Given the description of an element on the screen output the (x, y) to click on. 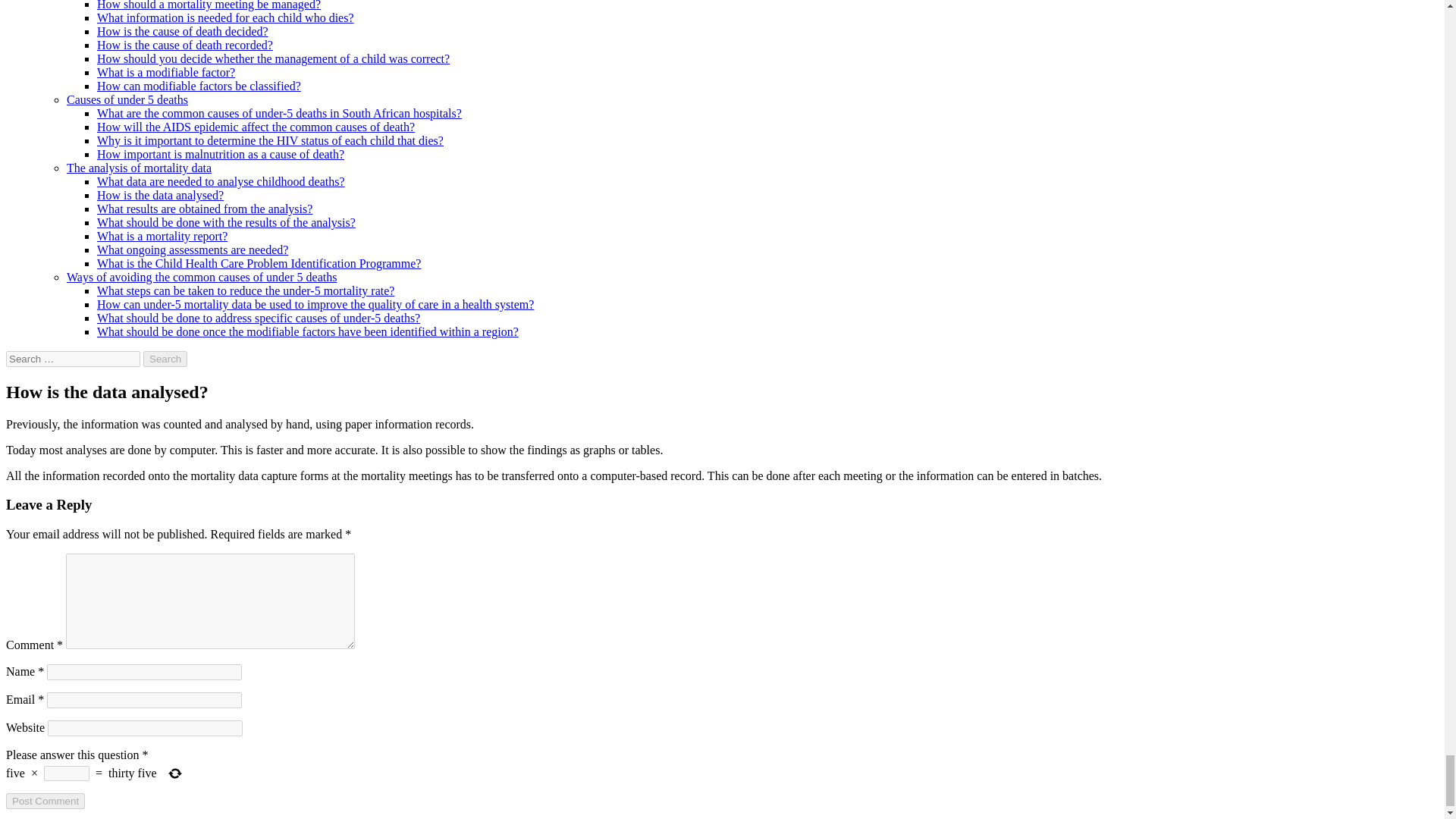
Search (164, 358)
Search (164, 358)
Post Comment (44, 801)
